Given the description of an element on the screen output the (x, y) to click on. 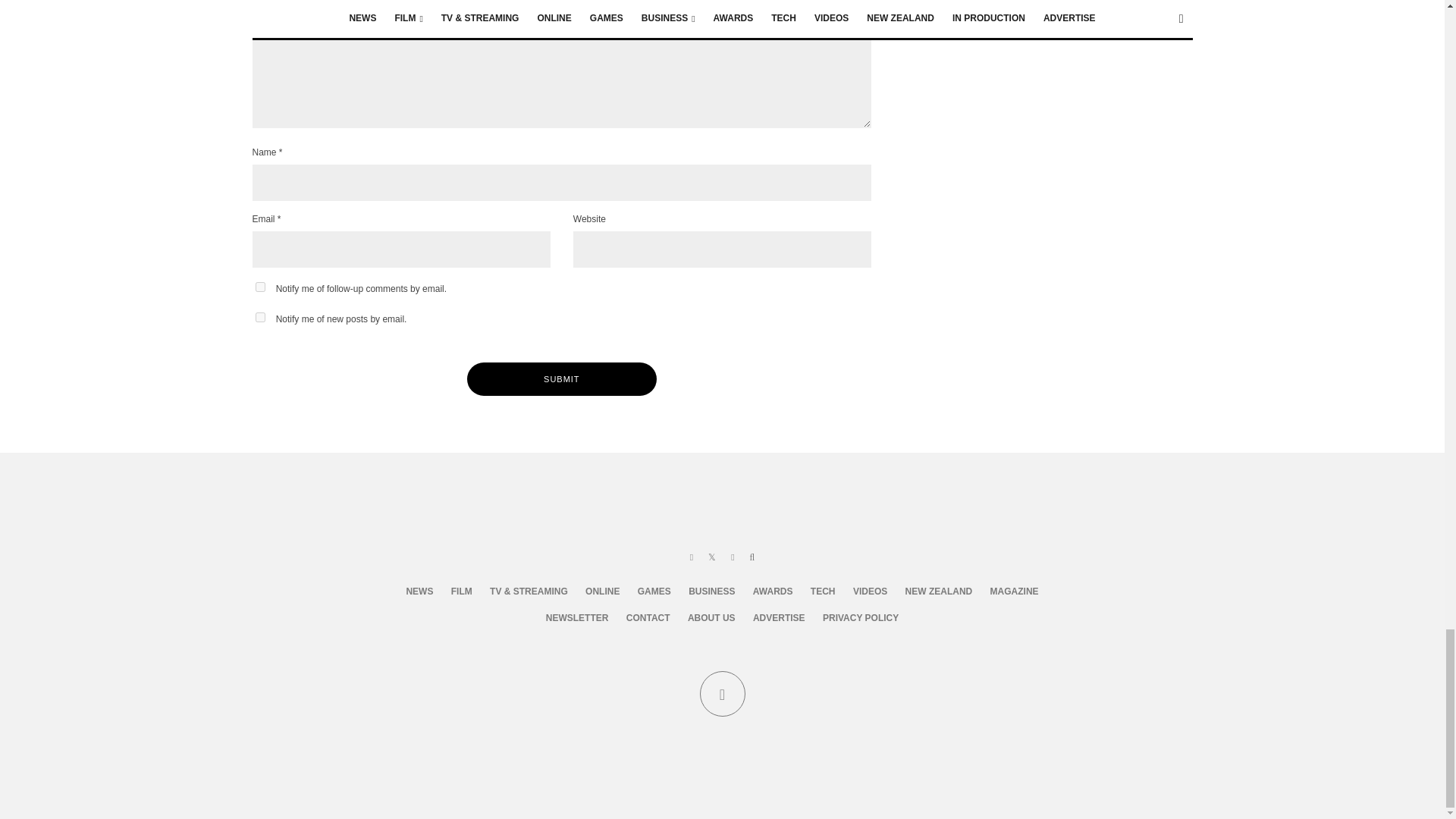
Submit (561, 378)
subscribe (259, 286)
subscribe (259, 317)
